Given the description of an element on the screen output the (x, y) to click on. 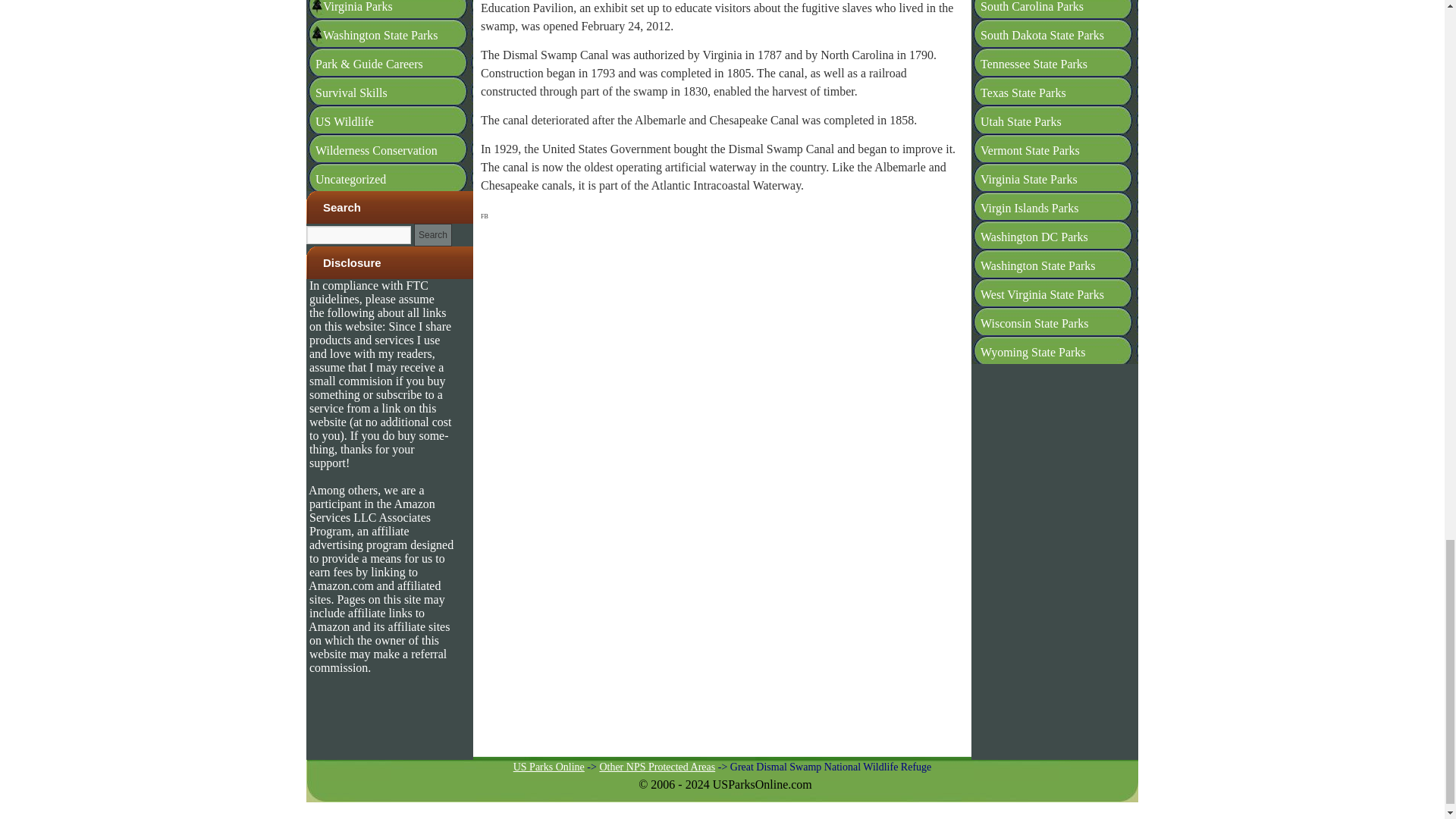
Search (432, 234)
